Given the description of an element on the screen output the (x, y) to click on. 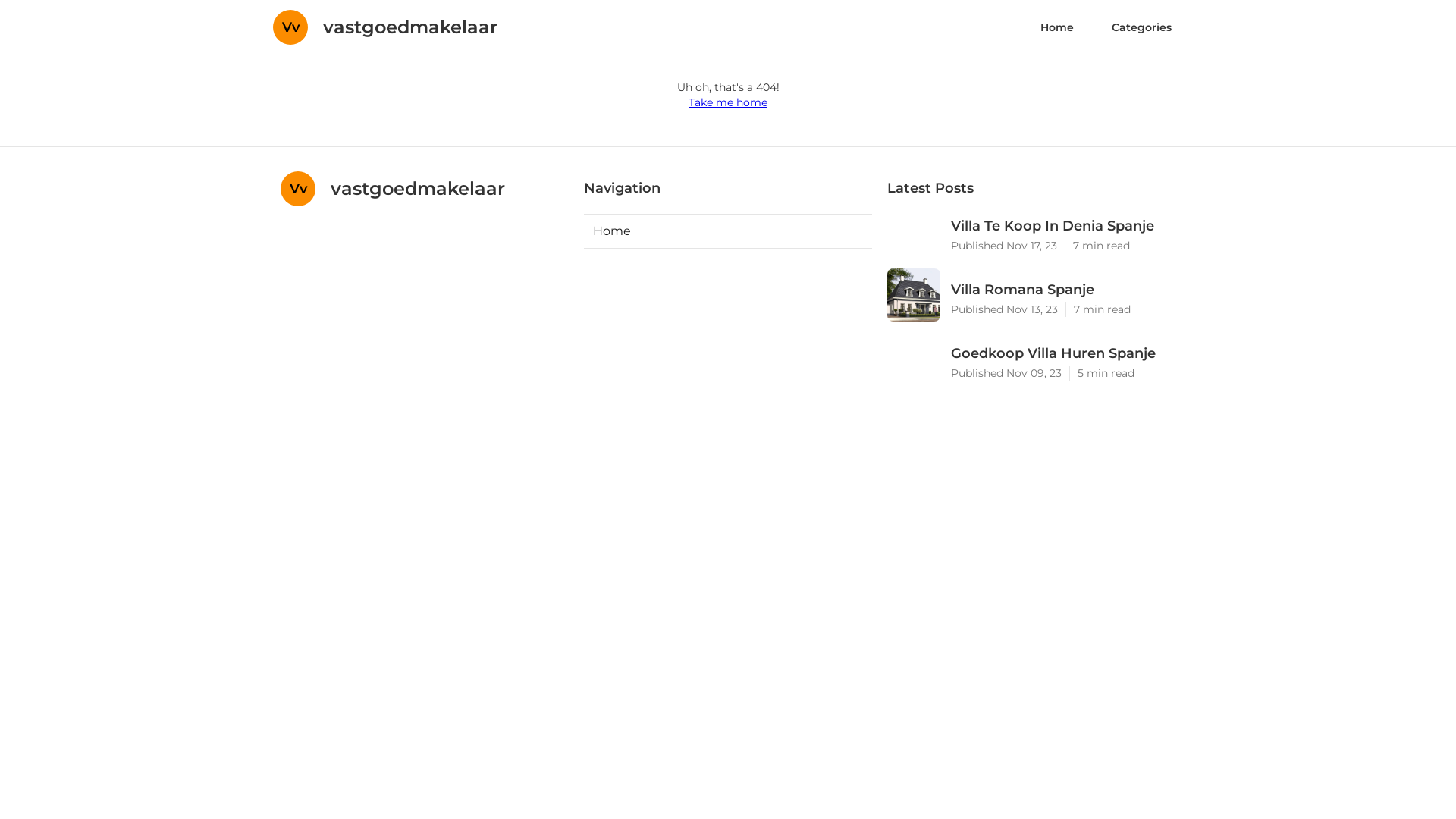
Home Element type: text (727, 230)
Home Element type: text (1057, 26)
Take me home Element type: text (727, 101)
Villa Te Koop In Denia Spanje Element type: text (1062, 225)
Categories Element type: text (1141, 26)
Goedkoop Villa Huren Spanje Element type: text (1062, 353)
Villa Romana Spanje Element type: text (1062, 289)
